Given the description of an element on the screen output the (x, y) to click on. 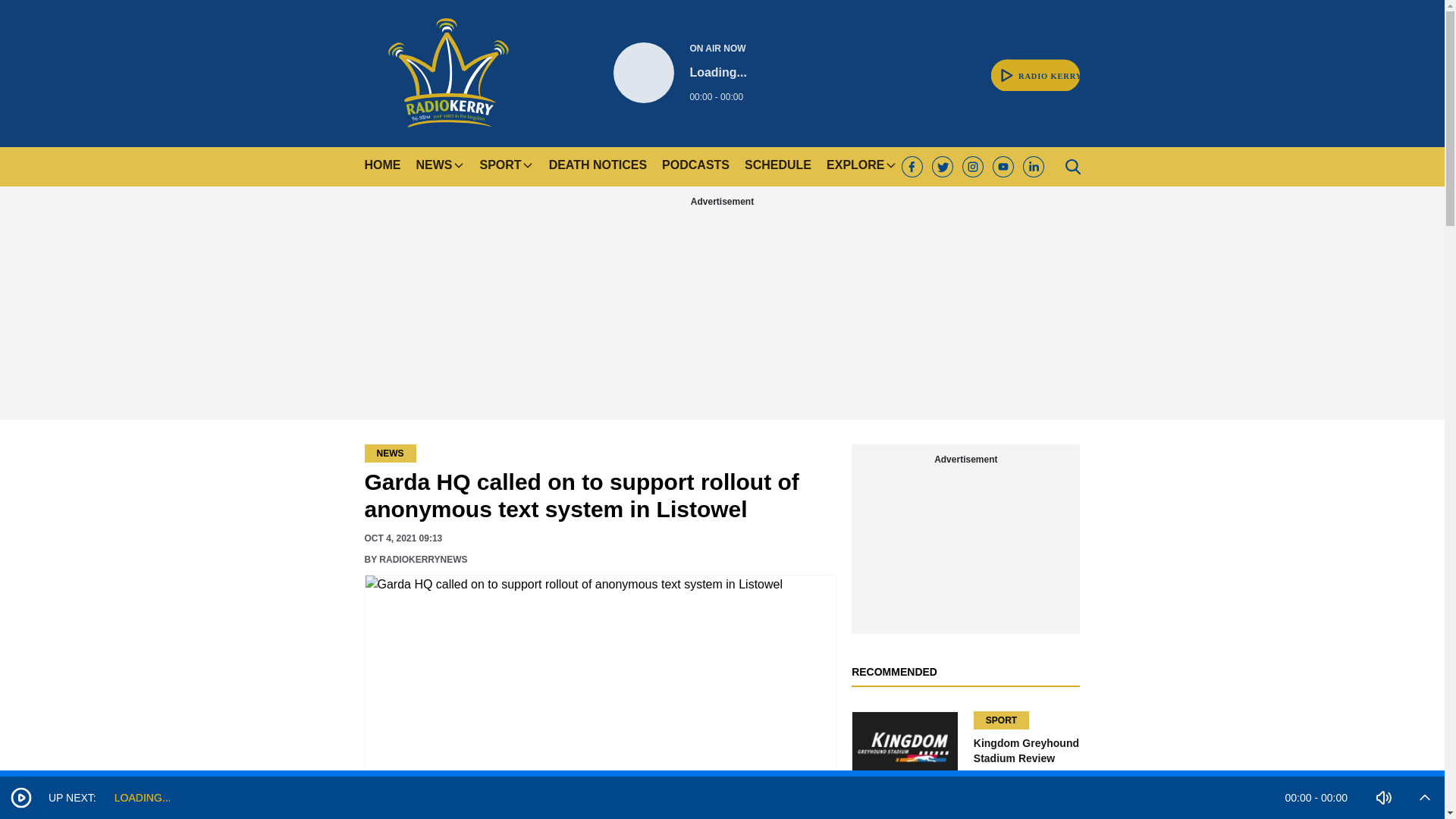
RADIO KERRY (1035, 66)
SCHEDULE (777, 166)
DEATH NOTICES (597, 166)
RadioKerry.ie (679, 72)
HOME (447, 72)
PODCASTS (382, 166)
RADIO KERRY (695, 166)
